Given the description of an element on the screen output the (x, y) to click on. 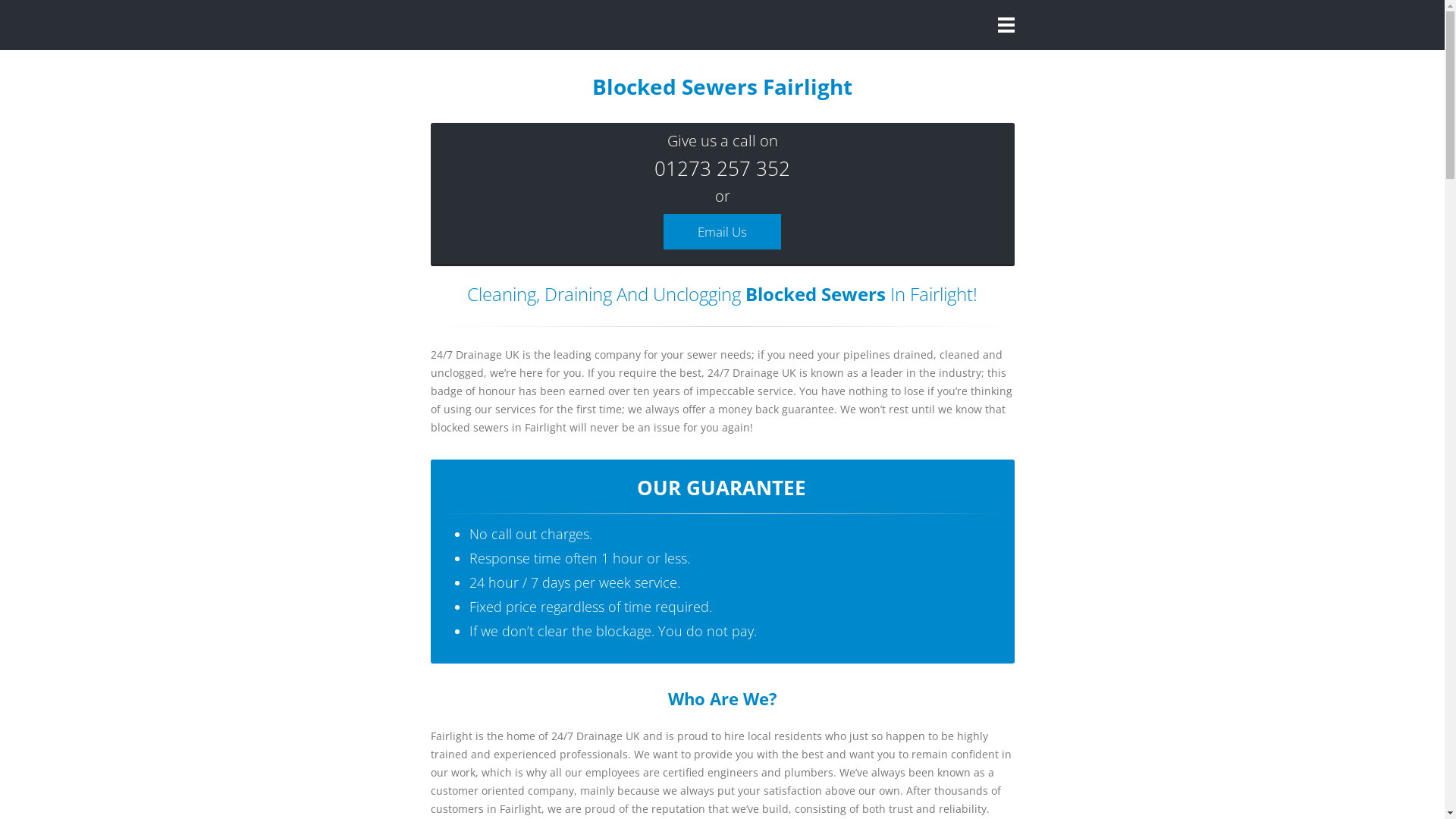
Email Us Element type: text (722, 231)
01273 257 352 Element type: text (722, 168)
